Given the description of an element on the screen output the (x, y) to click on. 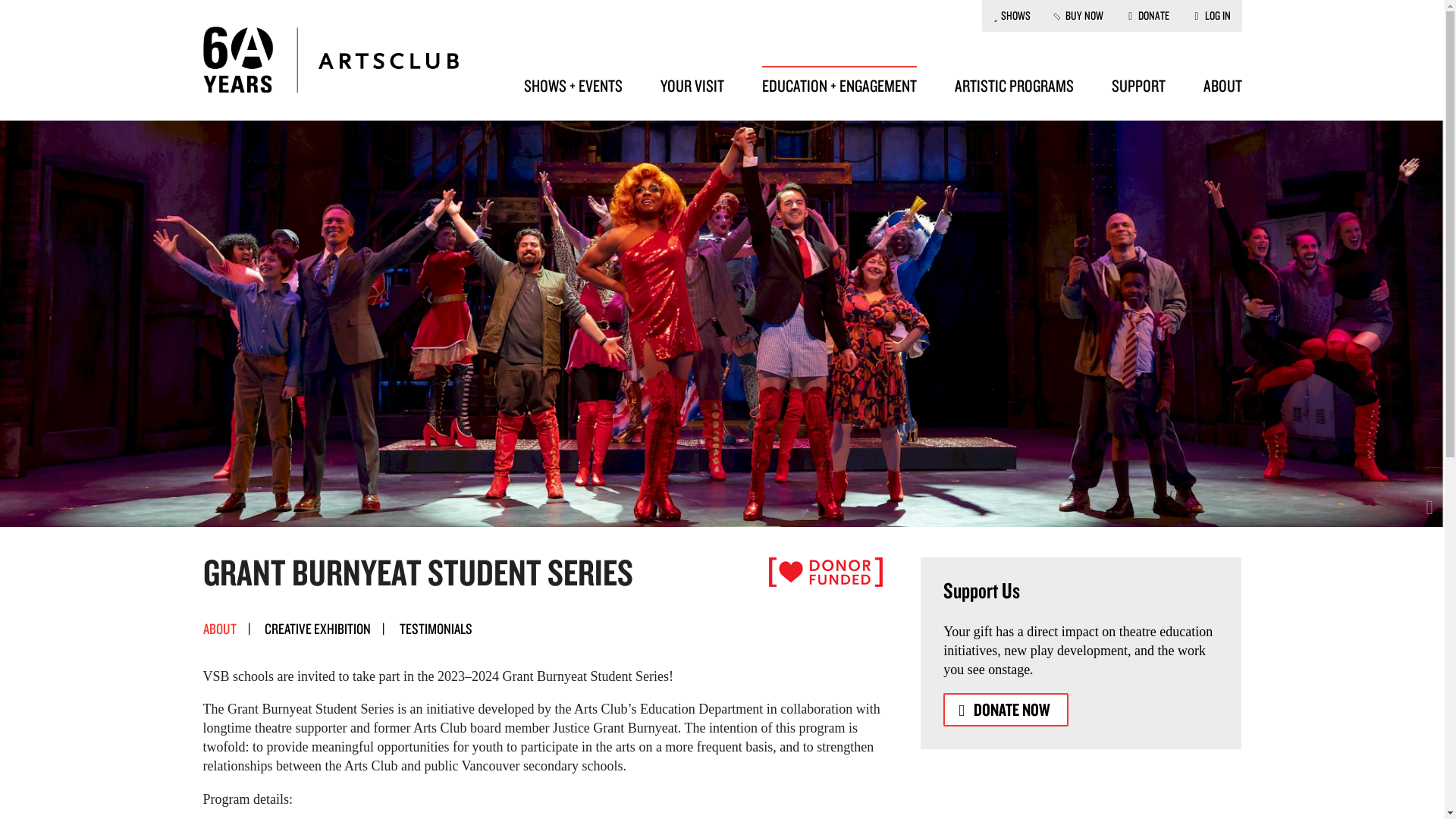
ARTISTIC PROGRAMS (1013, 93)
YOUR VISIT (691, 93)
